Given the description of an element on the screen output the (x, y) to click on. 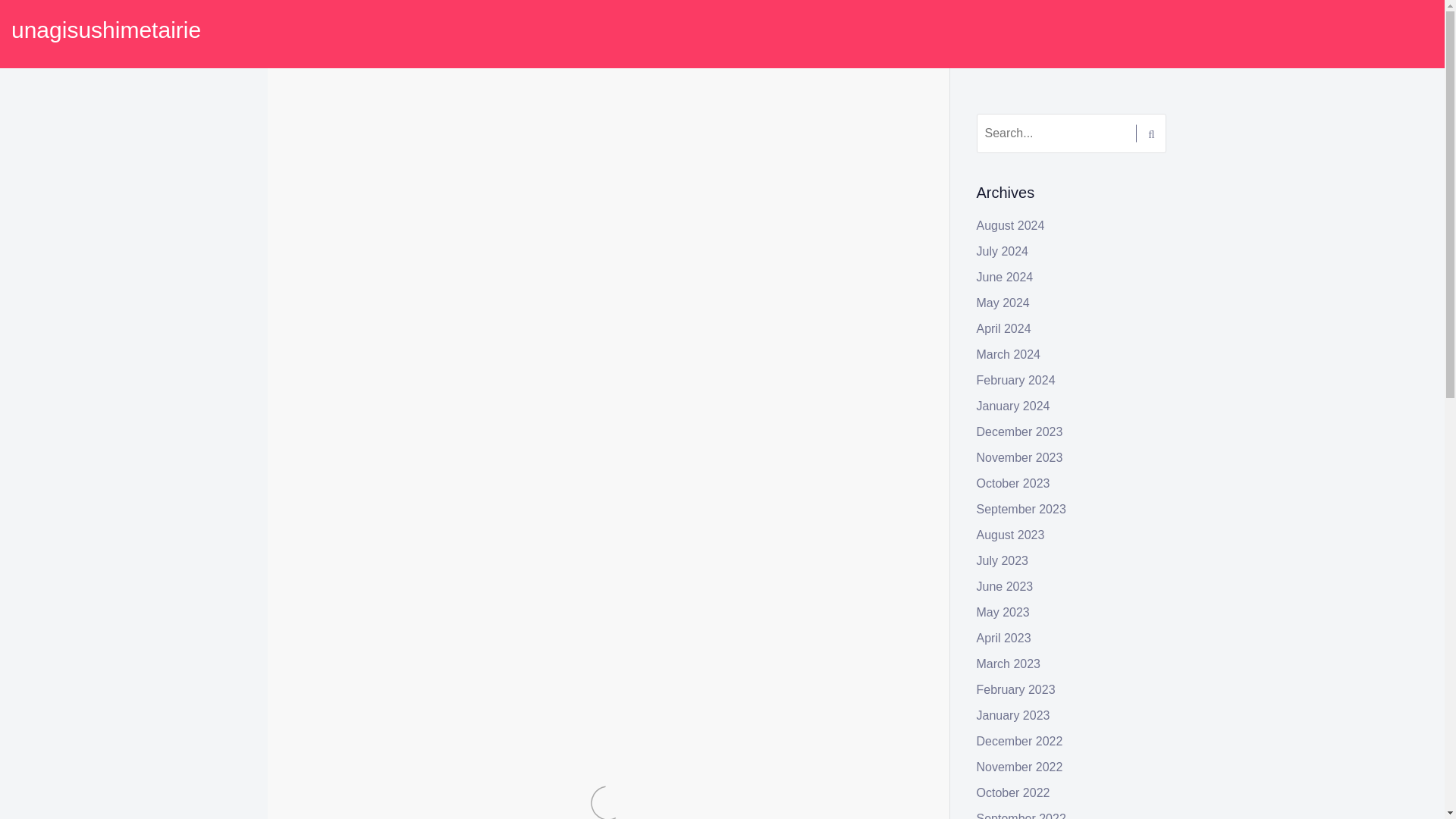
October 2022 (1012, 792)
March 2023 (1008, 663)
February 2024 (1015, 379)
September 2022 (1020, 815)
February 2023 (1015, 689)
September 2023 (1020, 508)
June 2023 (1004, 585)
Admin (413, 143)
May 2024 (1002, 302)
December 2023 (1019, 431)
